Given the description of an element on the screen output the (x, y) to click on. 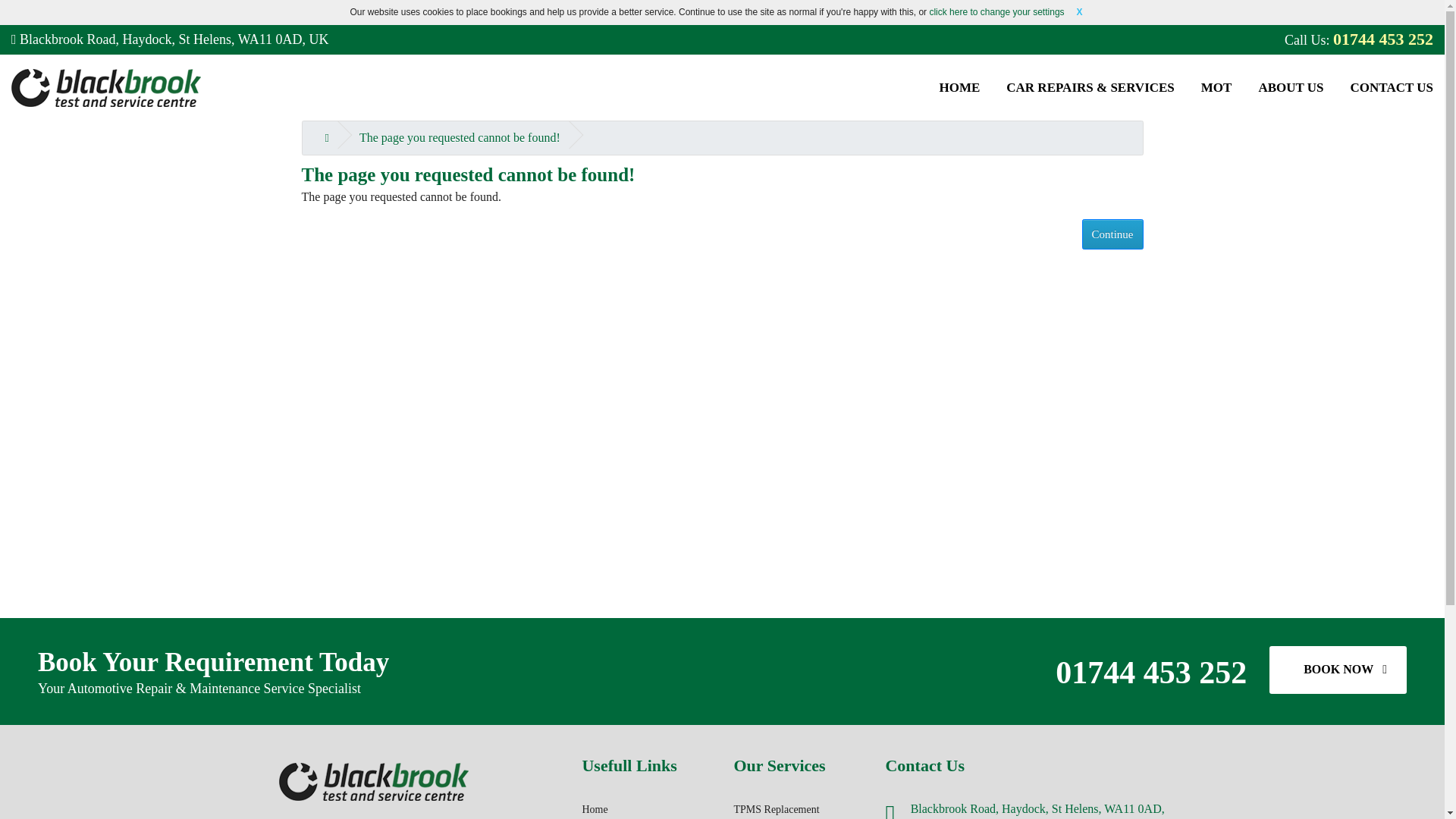
Black Brook Motors (105, 87)
MOT (1216, 87)
ABOUT US (1290, 87)
CONTACT US (1391, 87)
click here to change your settings (996, 11)
HOME (959, 87)
X (1079, 11)
01744 453 252 (1382, 39)
